Given the description of an element on the screen output the (x, y) to click on. 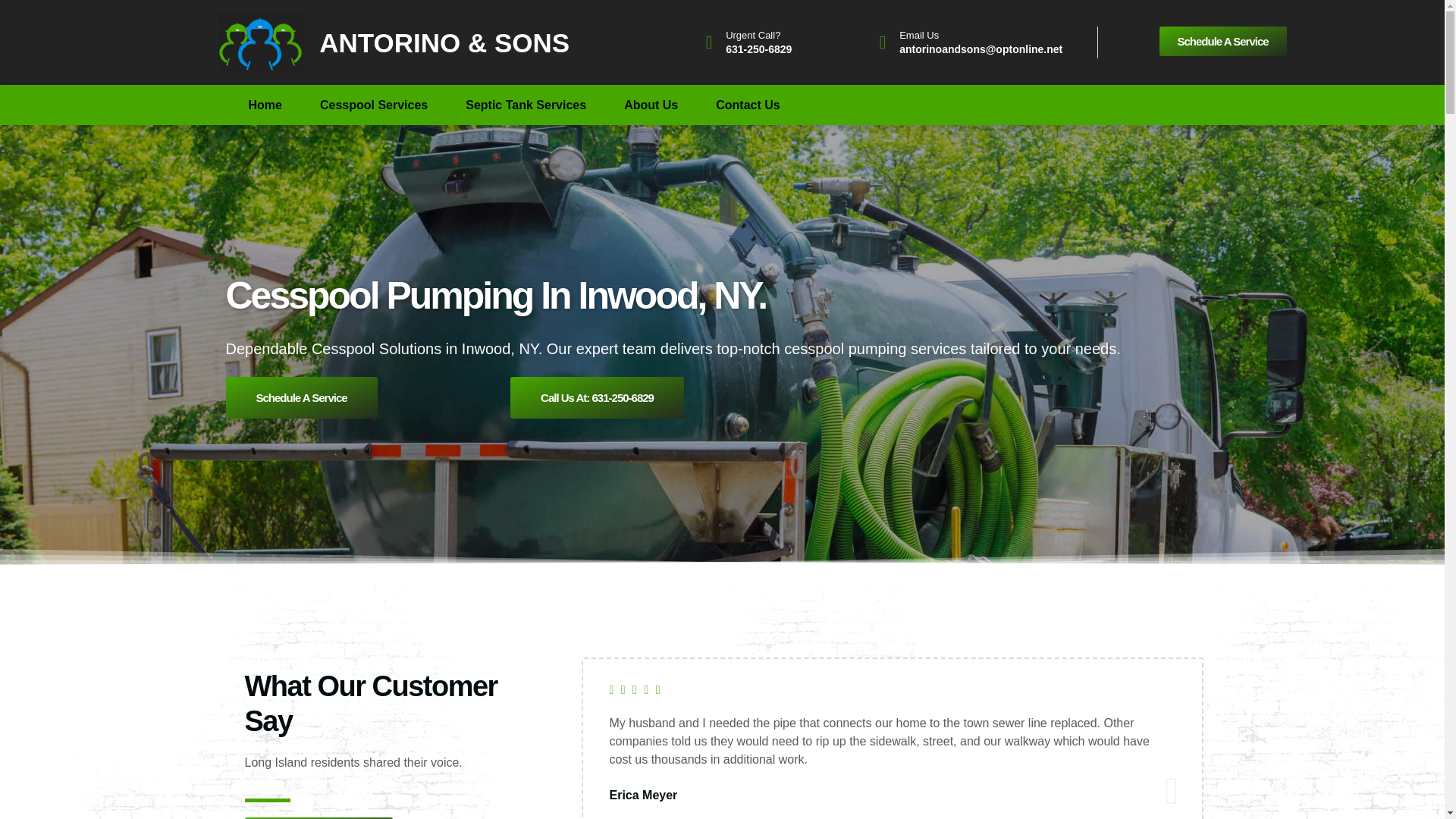
Cesspool Services (374, 105)
Call Us At: 631-250-6829 (597, 397)
Schedule A Service (1222, 41)
Urgent Call? (752, 34)
Septic Tank Services (525, 105)
About Us (651, 105)
Schedule A Service (301, 397)
Email Us (919, 34)
Contact Us (747, 105)
